Given the description of an element on the screen output the (x, y) to click on. 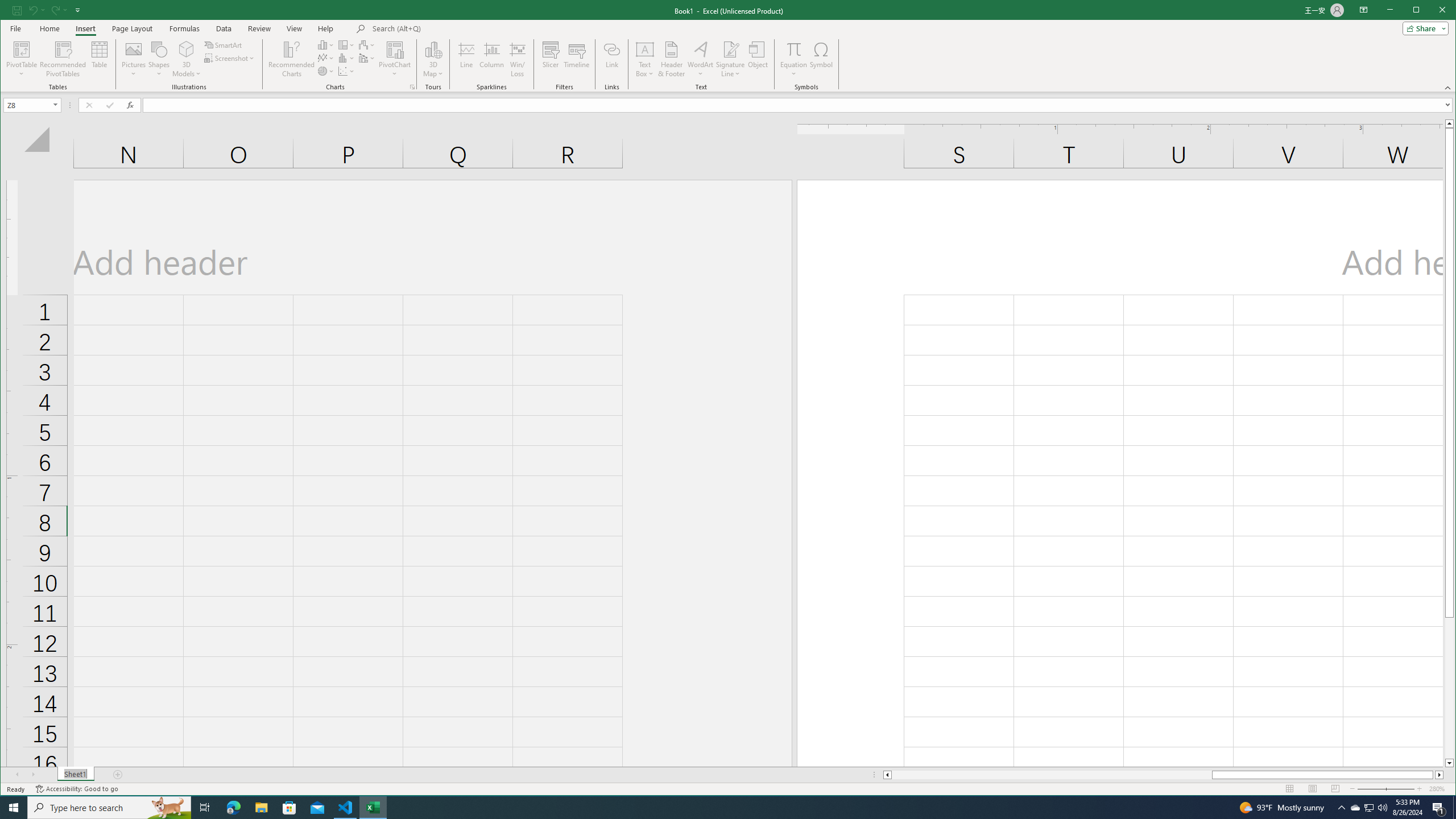
Recommended Charts (411, 86)
3D Models (186, 48)
Screenshot (229, 57)
Link (611, 59)
3D Map (432, 48)
Insert Statistic Chart (346, 57)
